Given the description of an element on the screen output the (x, y) to click on. 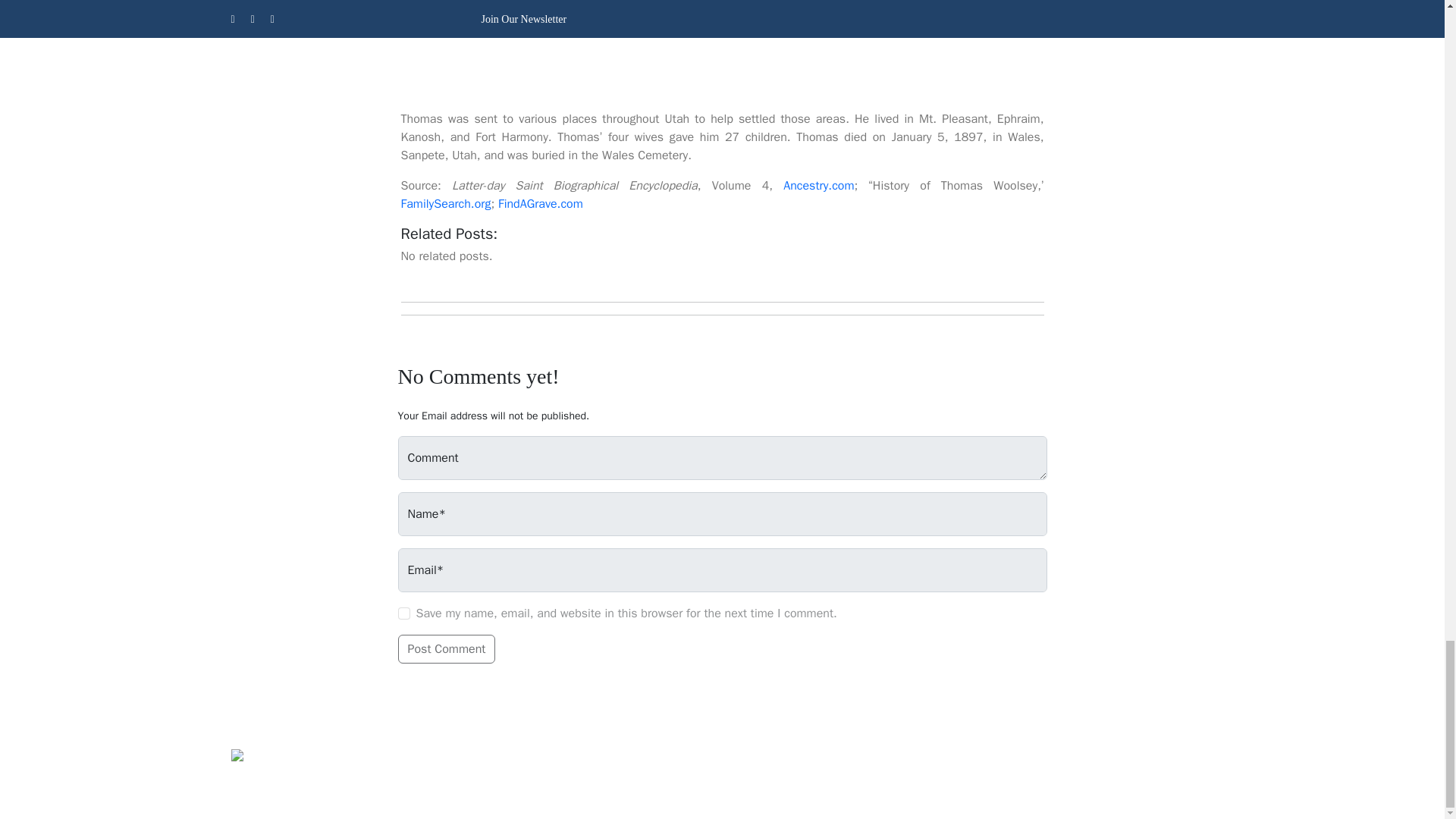
FamilySearch.org (445, 203)
AUTHORS (761, 765)
ABOUT US (665, 765)
FindAGrave.com (540, 203)
Ancestry.com (818, 185)
Post Comment (446, 648)
CONTACT (842, 765)
Post Comment (446, 648)
yes (403, 613)
HOME (590, 765)
